Given the description of an element on the screen output the (x, y) to click on. 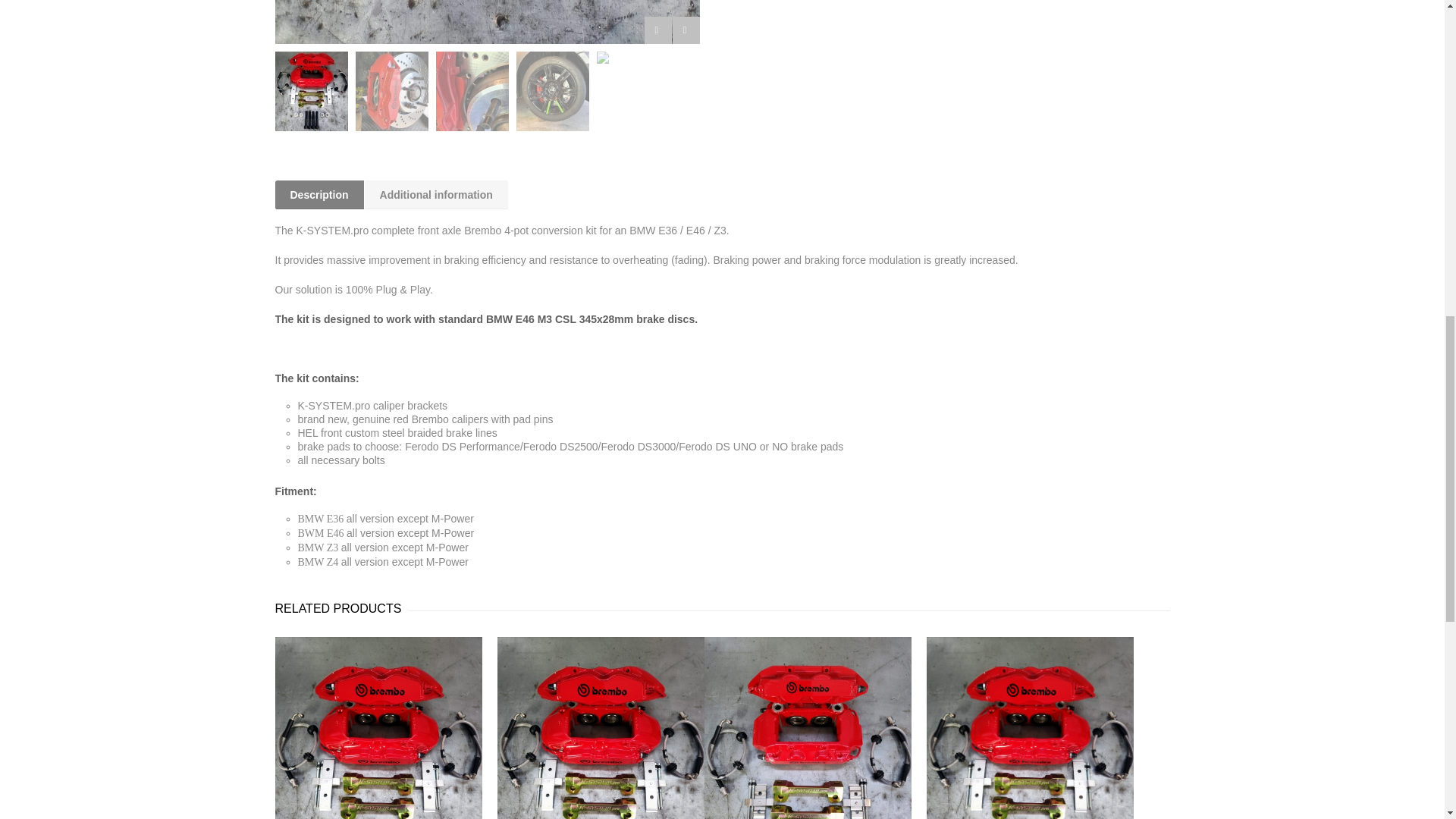
Additional information (436, 194)
IMG20211215134731 (486, 22)
Description (319, 194)
